Given the description of an element on the screen output the (x, y) to click on. 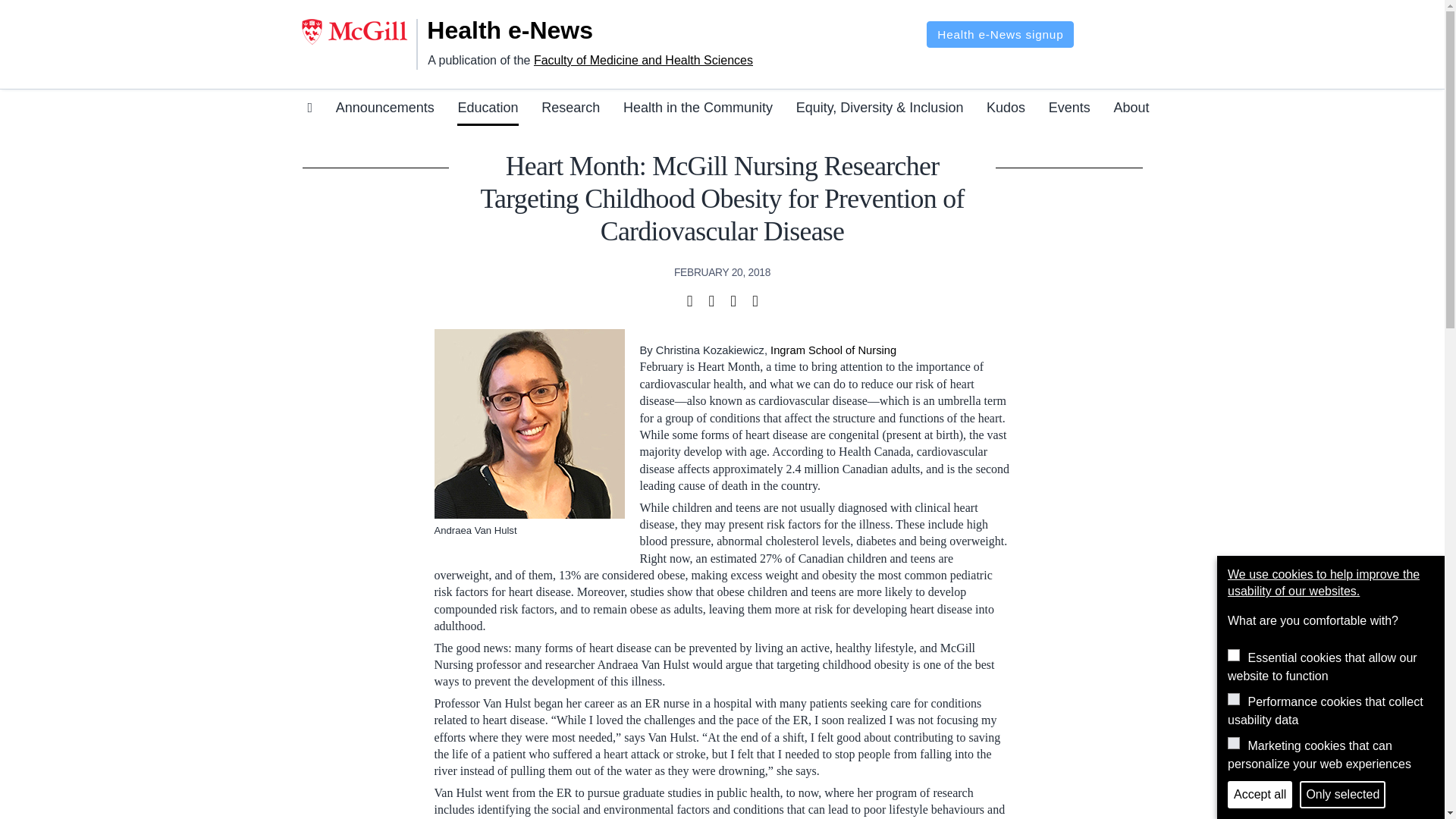
Ingram School of Nursing (833, 349)
marketing (1233, 743)
Search (1102, 24)
Announcements (384, 110)
Events (1069, 110)
required (1233, 654)
Kudos (1006, 110)
Faculty of Medicine and Health Sciences (643, 60)
Health e-News (529, 30)
About (1130, 110)
